Given the description of an element on the screen output the (x, y) to click on. 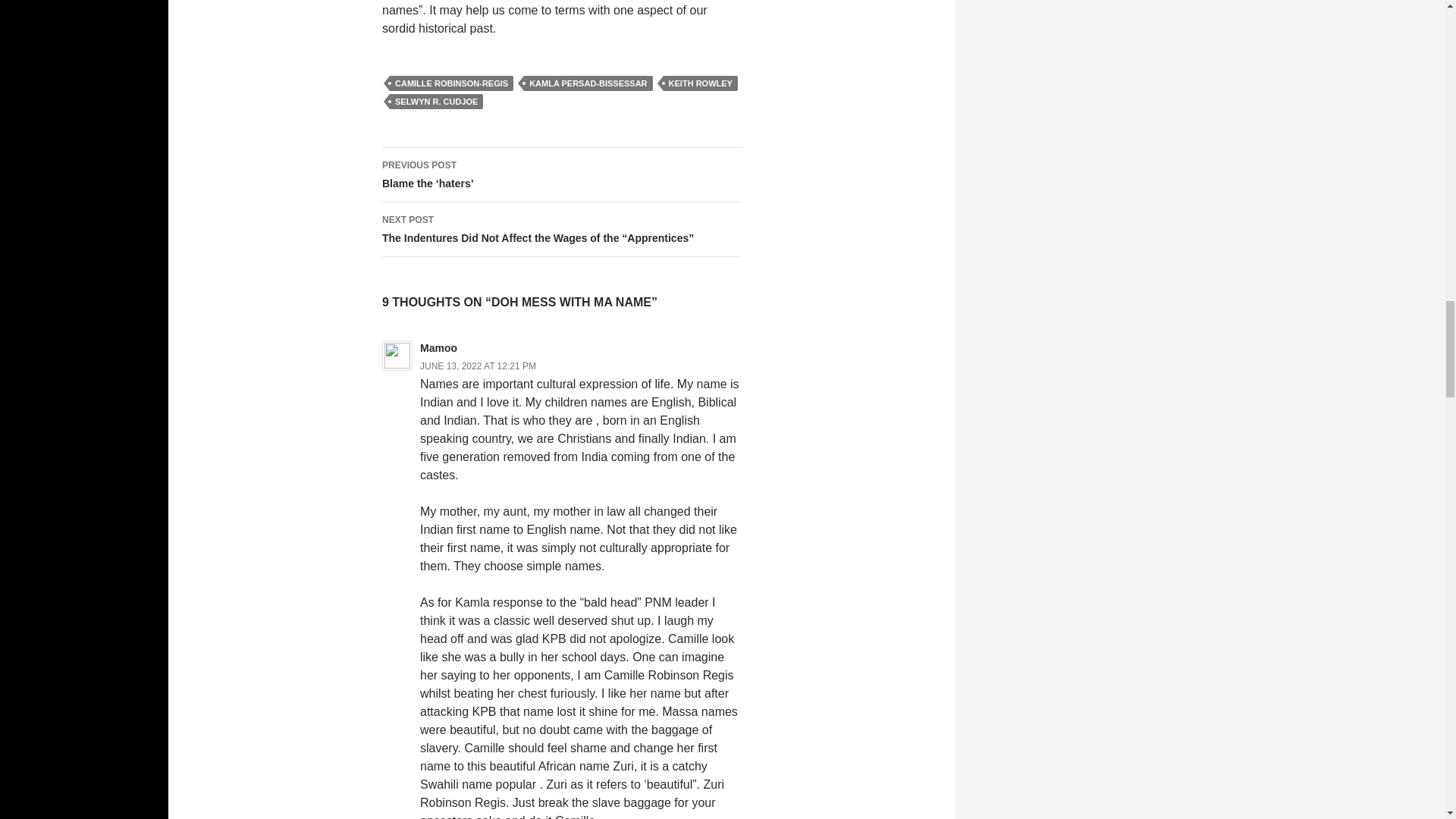
KEITH ROWLEY (700, 83)
KAMLA PERSAD-BISSESSAR (588, 83)
JUNE 13, 2022 AT 12:21 PM (477, 366)
CAMILLE ROBINSON-REGIS (451, 83)
SELWYN R. CUDJOE (436, 101)
